Given the description of an element on the screen output the (x, y) to click on. 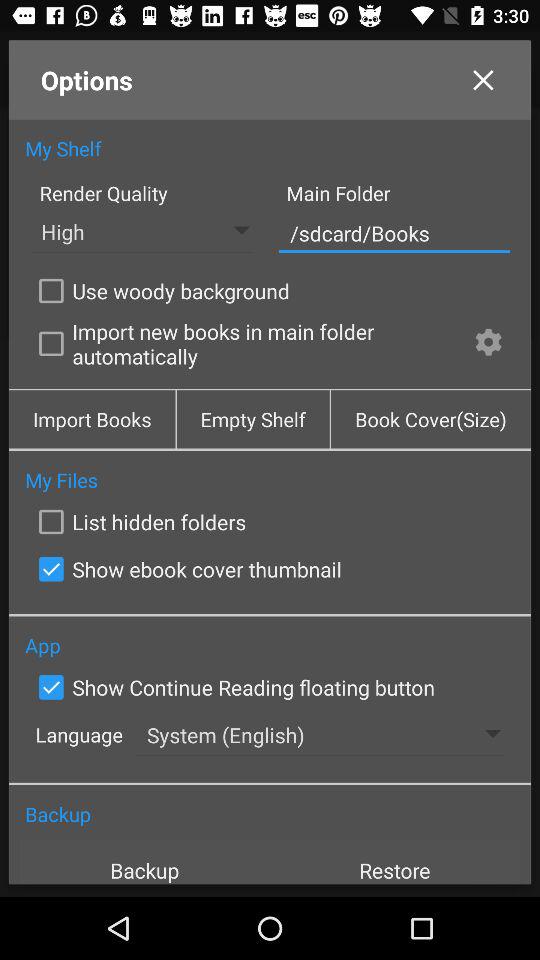
launch show continue reading item (232, 687)
